Given the description of an element on the screen output the (x, y) to click on. 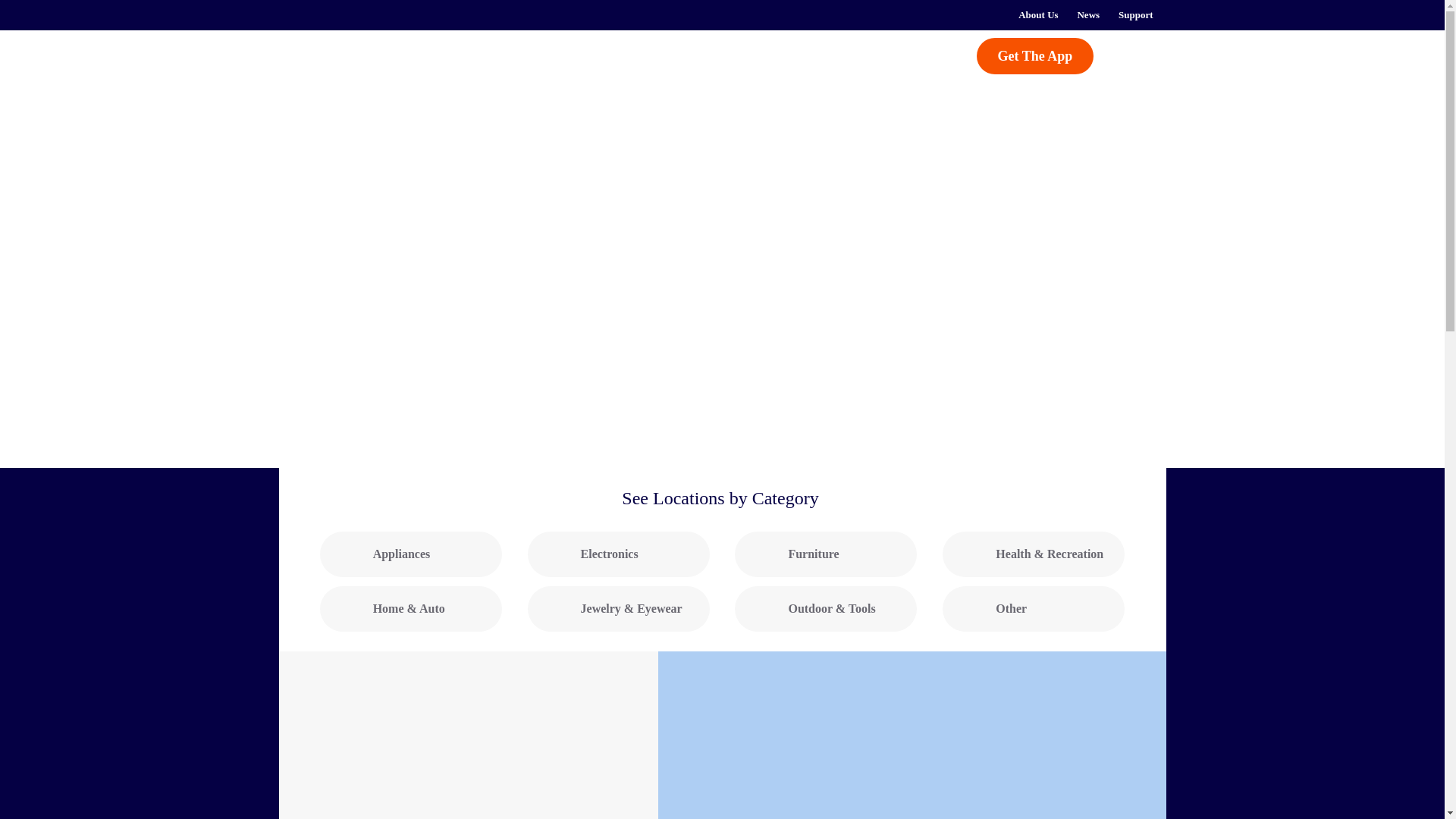
Electronics (618, 554)
Get The App (1035, 55)
Acima (358, 63)
Ways to Shop (653, 54)
Support (1136, 15)
How It Works (516, 54)
About Us (1037, 15)
Furniture (826, 554)
Appliances (411, 554)
For Partners (769, 54)
